Given the description of an element on the screen output the (x, y) to click on. 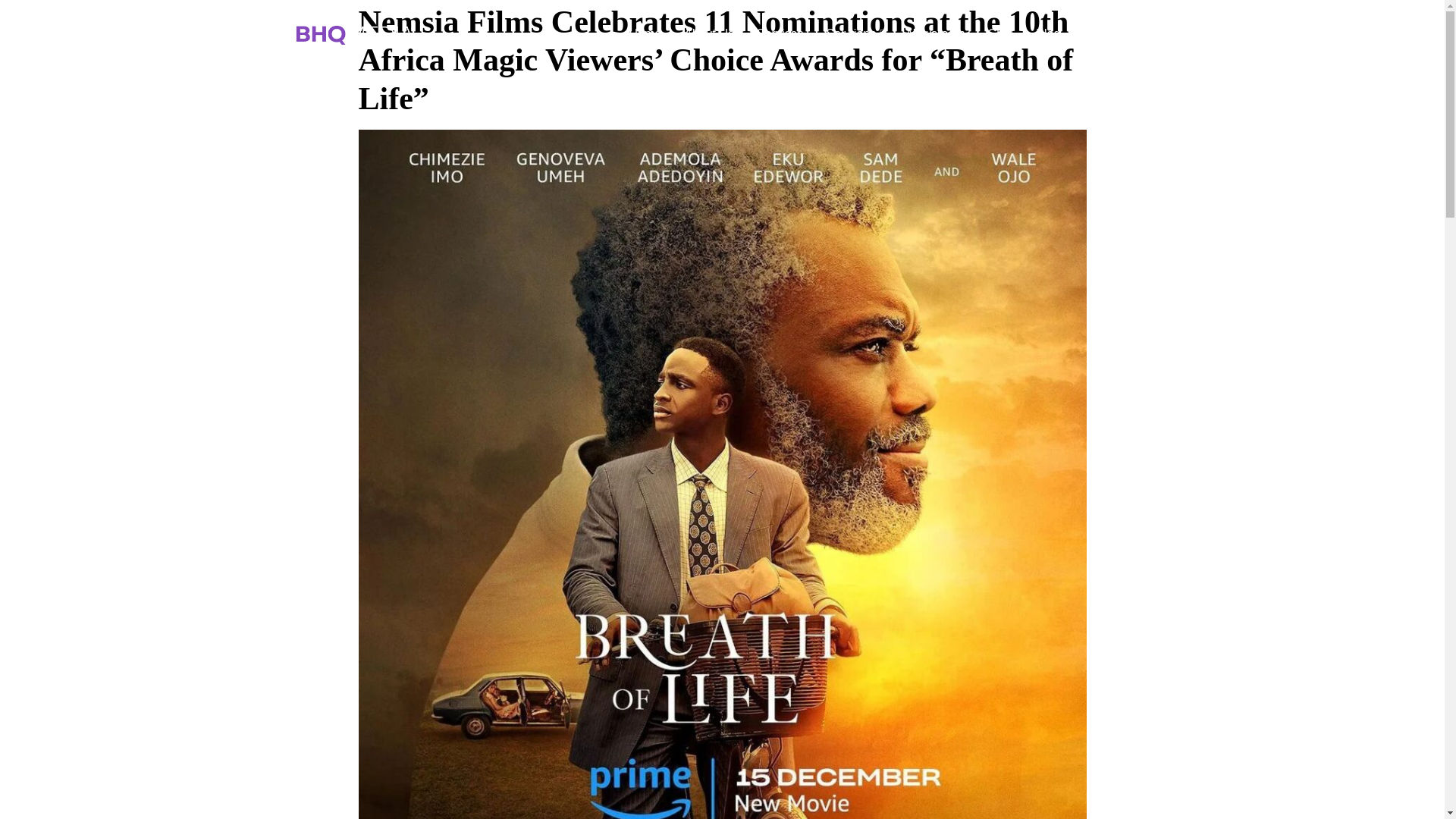
About Us (708, 34)
Home (644, 34)
Contact Us (1112, 34)
Solutions (854, 34)
Newsroom (935, 34)
Services (779, 34)
Blog (1048, 34)
CSR (1000, 34)
